Given the description of an element on the screen output the (x, y) to click on. 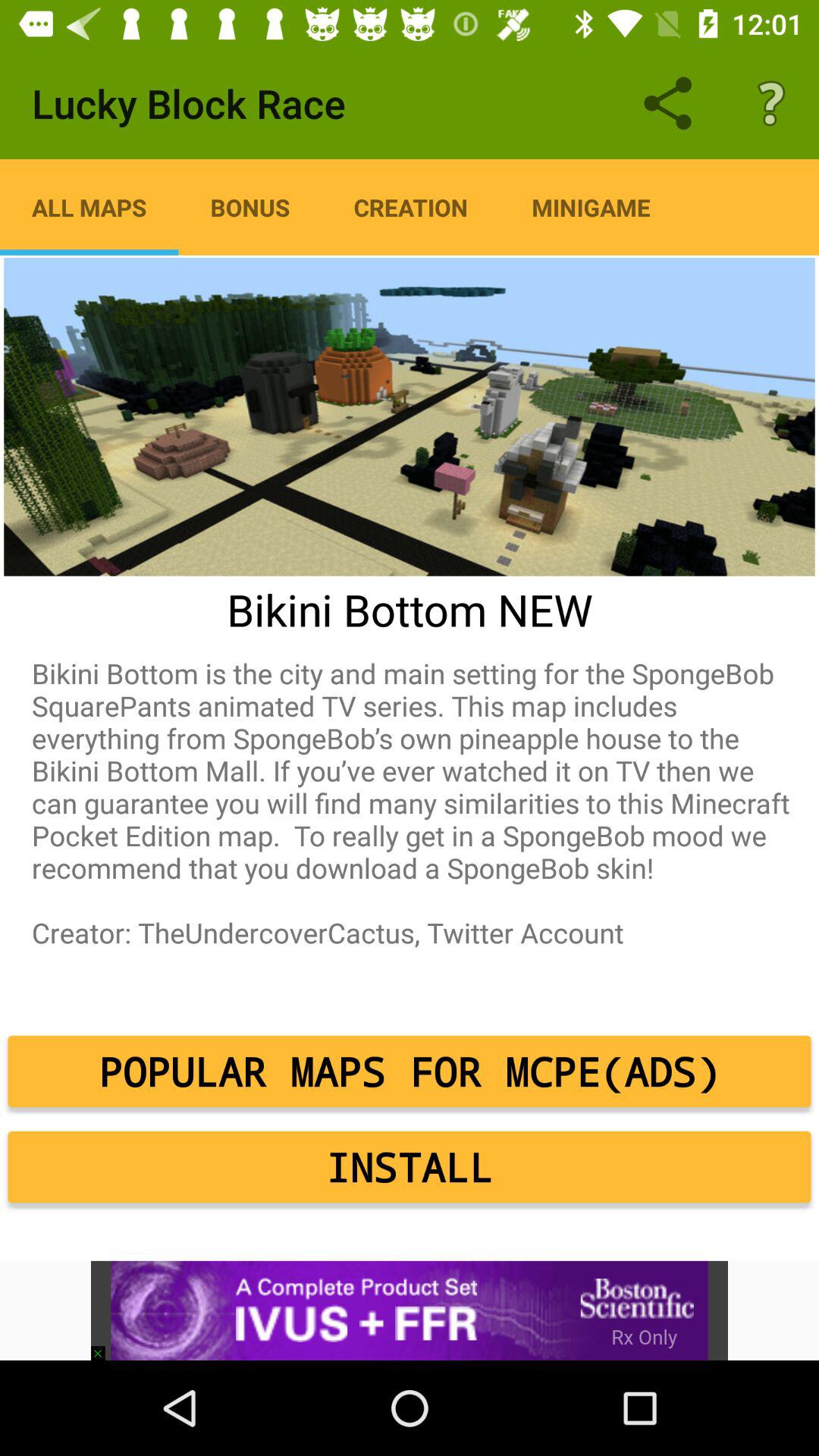
turn on the app to the right of the creation (590, 207)
